Given the description of an element on the screen output the (x, y) to click on. 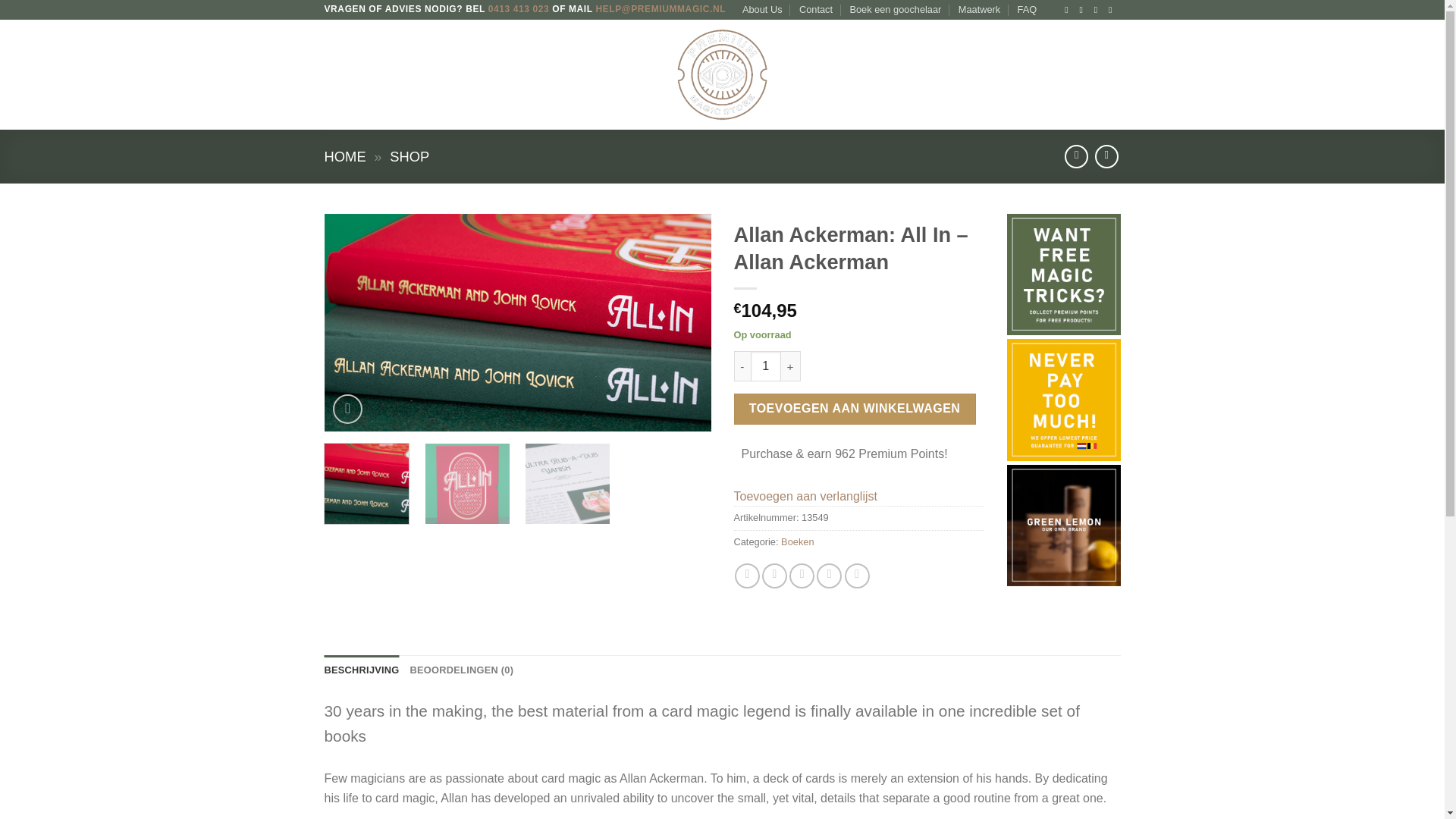
Boek een goochelaar (894, 9)
PRODUCTS (396, 73)
Zoom (347, 408)
1 (765, 366)
Maatwerk (979, 9)
FAQ (1026, 9)
Contact (815, 9)
About Us (762, 9)
Deel op Facebook (747, 575)
HOME (338, 73)
0413 413 023 (518, 9)
